Given the description of an element on the screen output the (x, y) to click on. 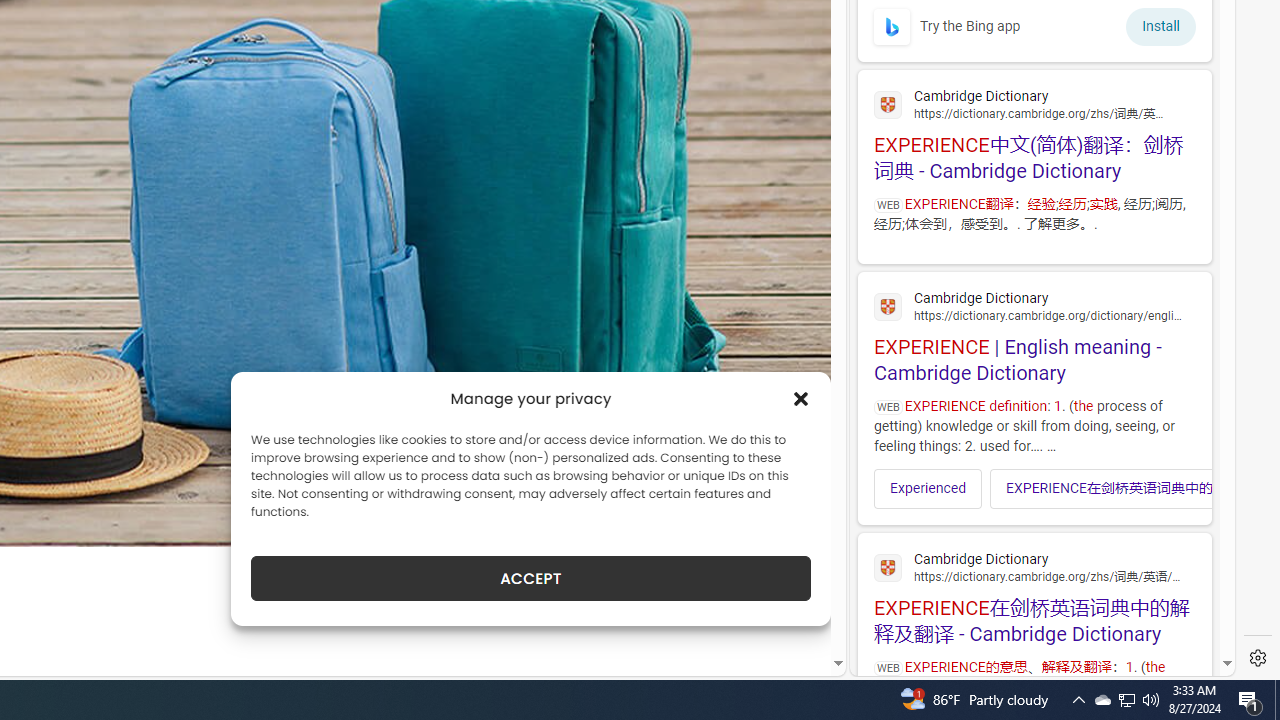
ACCEPT (530, 578)
EXPERIENCE | English meaning - Cambridge Dictionary (1034, 334)
Experienced (928, 488)
Cambridge Dictionary (1034, 565)
Class: cmplz-close (801, 398)
Experienced (927, 488)
Click to scroll right (1183, 488)
Global web icon (888, 568)
To get missing image descriptions, open the context menu. (892, 26)
